Given the description of an element on the screen output the (x, y) to click on. 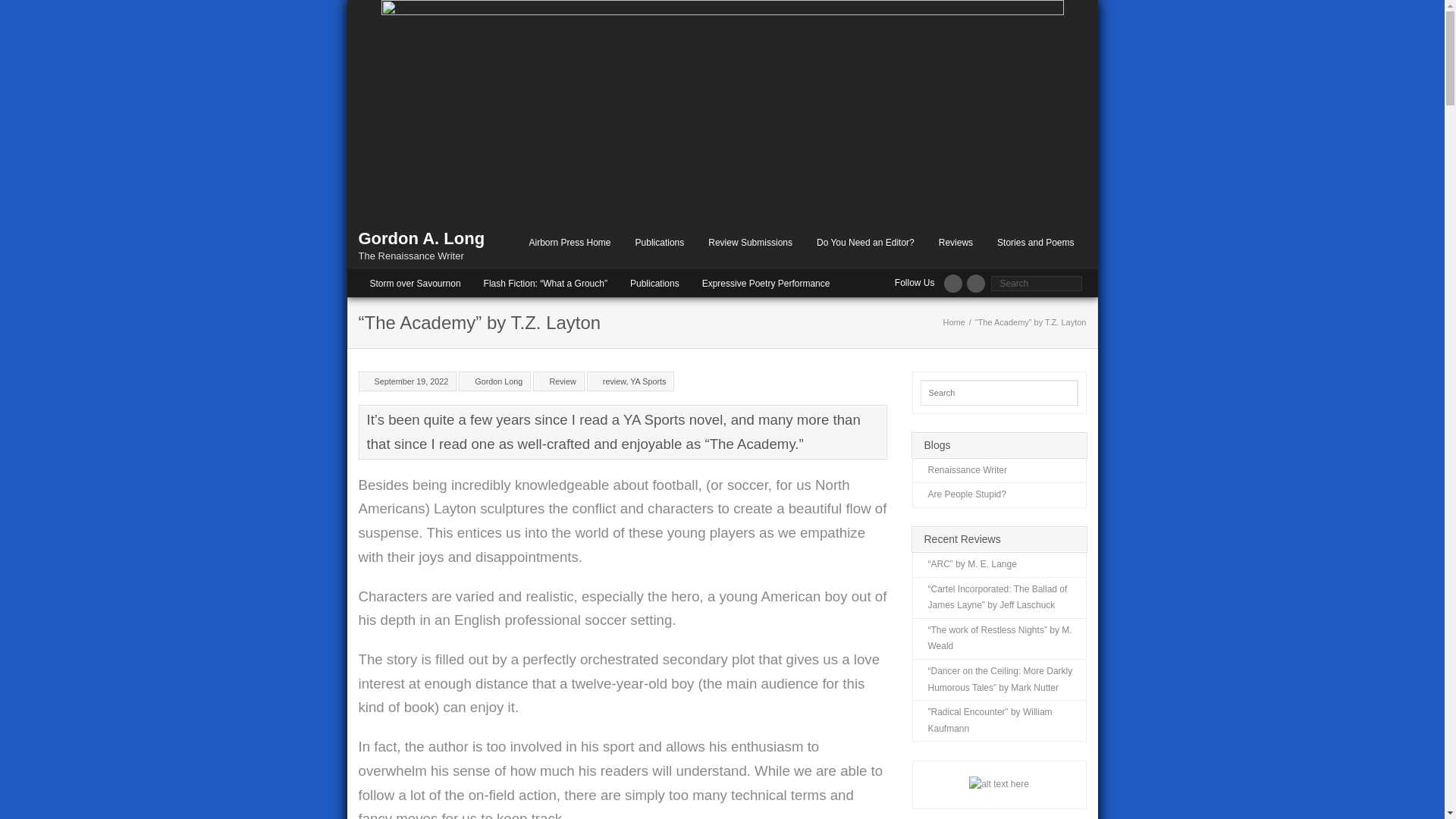
Reviews Element type: text (955, 242)
Expressive Poetry Performance Element type: text (765, 282)
Stories and Poems Element type: text (1035, 242)
Do You Need an Editor? Element type: text (865, 242)
Search Element type: text (25, 13)
Review Submissions Element type: text (750, 242)
September 19, 2022 Element type: text (411, 380)
Home Element type: text (953, 321)
Gordon A. Long
The Renaissance Writer Element type: text (420, 243)
review Element type: text (614, 380)
Gordon Long Element type: text (498, 380)
Airborn Press Home Element type: text (570, 242)
Review Element type: text (562, 380)
YA Sports Element type: text (647, 380)
Publications Element type: text (659, 242)
Storm over Savournon Element type: text (414, 282)
Are People Stupid? Element type: text (959, 495)
Publications Element type: text (654, 282)
Renaissance Writer Element type: text (960, 470)
